Given the description of an element on the screen output the (x, y) to click on. 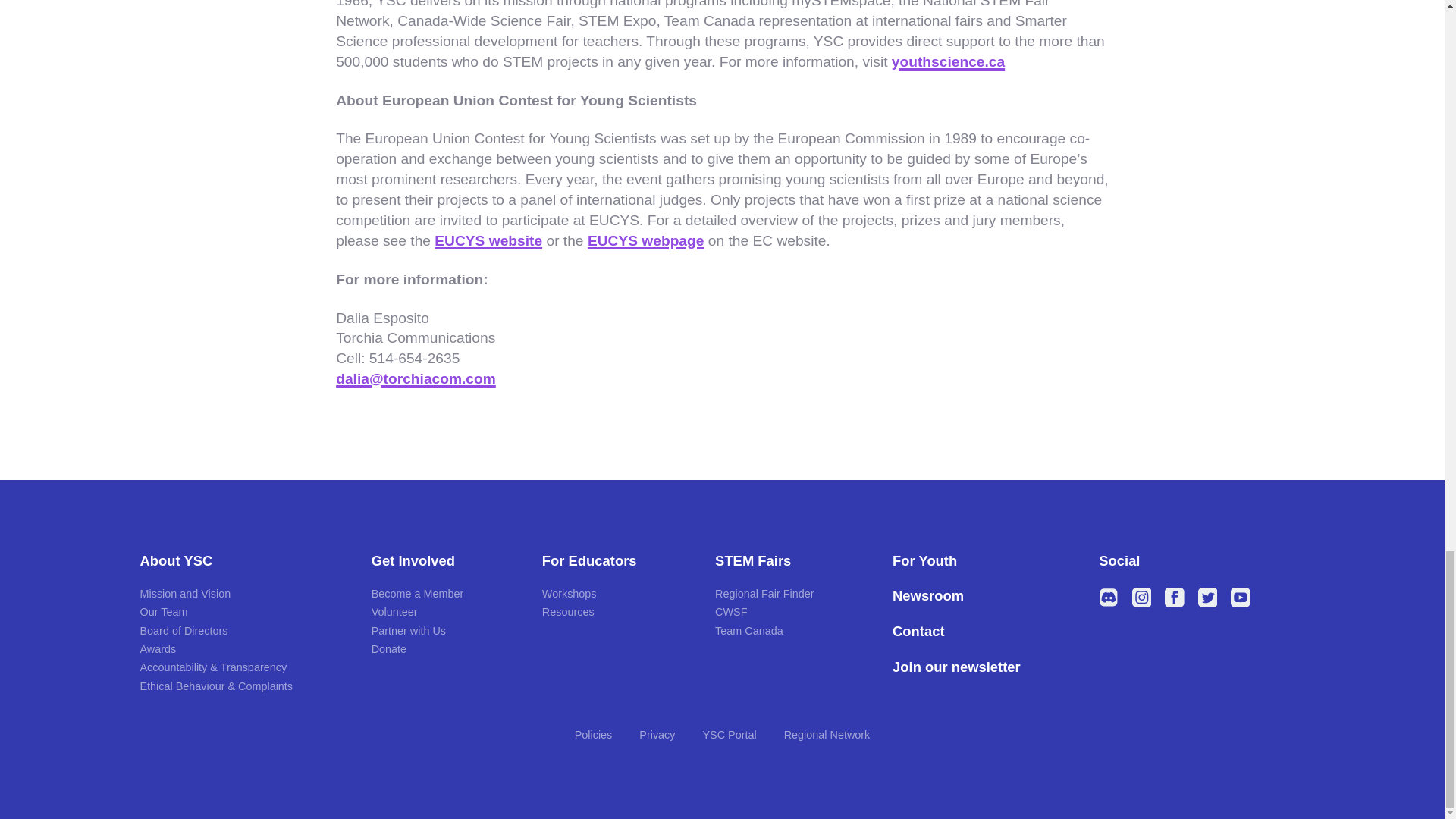
Resources (567, 612)
Donate (388, 648)
Become a Member (417, 593)
Volunteer (394, 612)
STEM Fairs (790, 560)
youthscience.ca (947, 61)
Our Team (163, 612)
About YSC (242, 560)
Board of Directors (183, 630)
Awards (157, 648)
EUCYS website (487, 240)
Workshops (568, 593)
EUCYS webpage (646, 240)
For Educators (615, 560)
Partner with Us (408, 630)
